Given the description of an element on the screen output the (x, y) to click on. 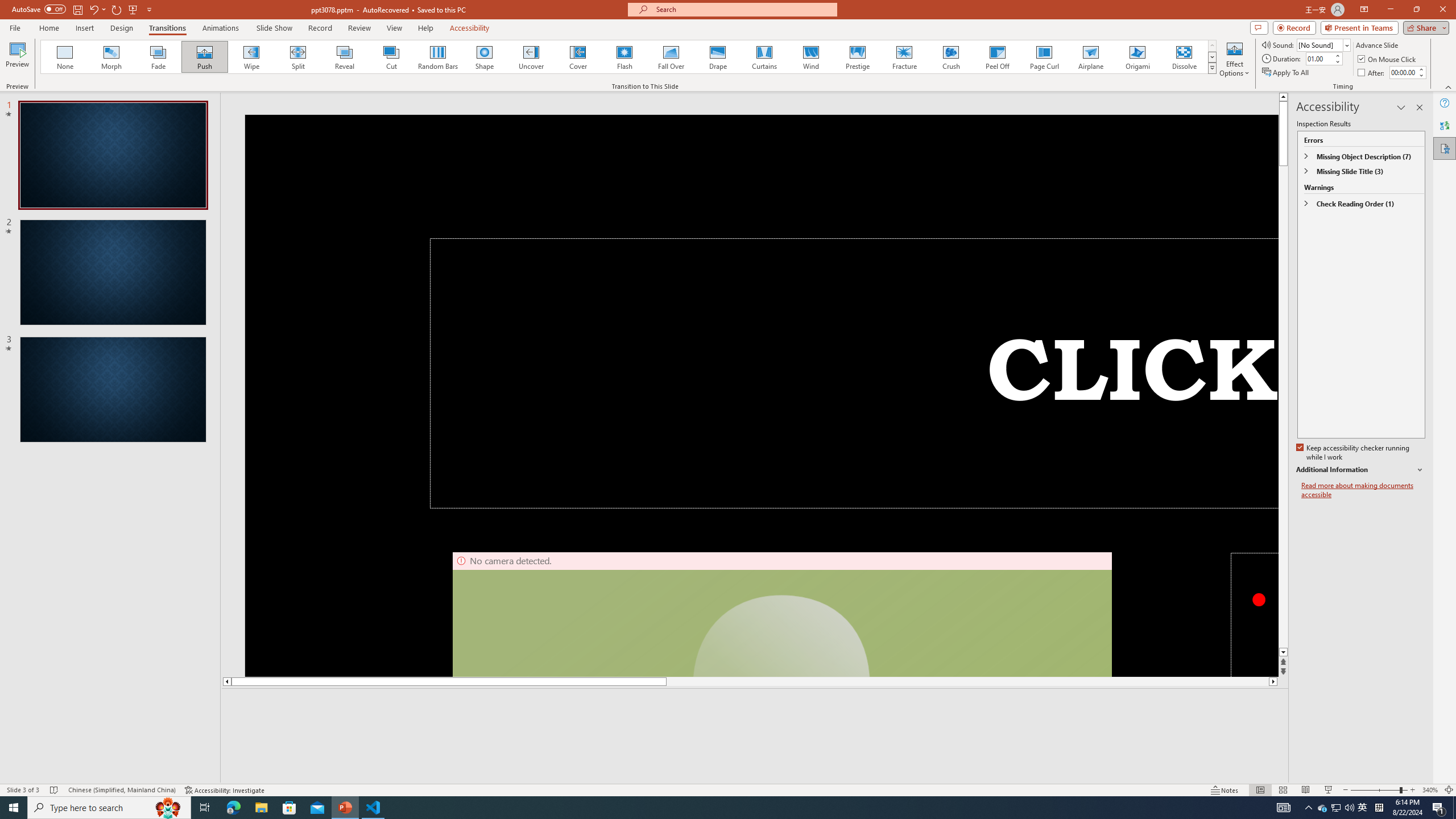
Effect Options (1234, 58)
Crush (950, 56)
Uncover (531, 56)
Random Bars (437, 56)
Accessibility (1444, 147)
Zoom 340% (1430, 790)
Sound (1324, 44)
Curtains (764, 56)
Fracture (903, 56)
Line up (1283, 96)
